Given the description of an element on the screen output the (x, y) to click on. 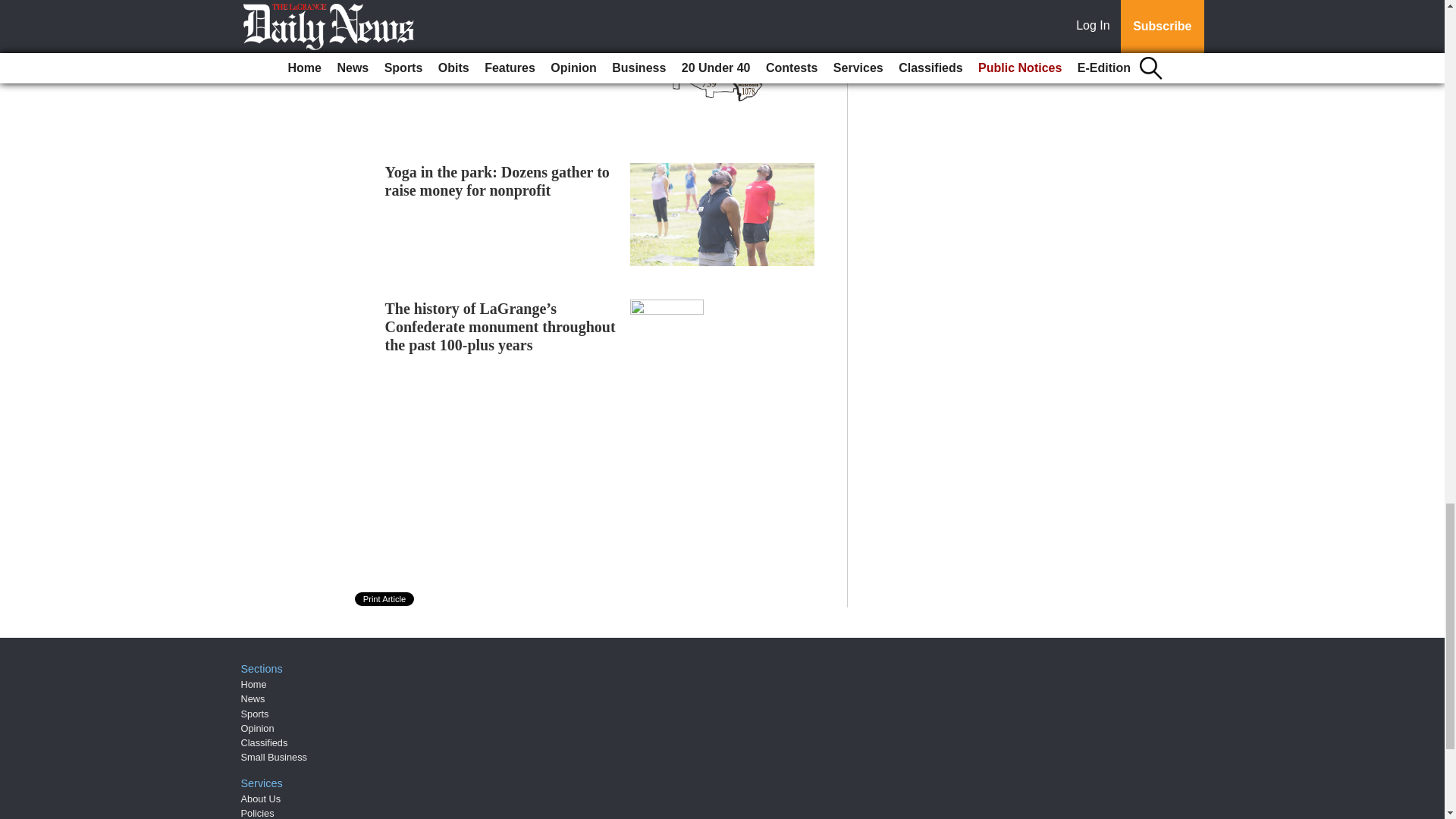
Yoga in the park: Dozens gather to raise money for nonprofit (497, 181)
Yoga in the park: Dozens gather to raise money for nonprofit (497, 181)
Print Article (384, 599)
Home (253, 684)
